Given the description of an element on the screen output the (x, y) to click on. 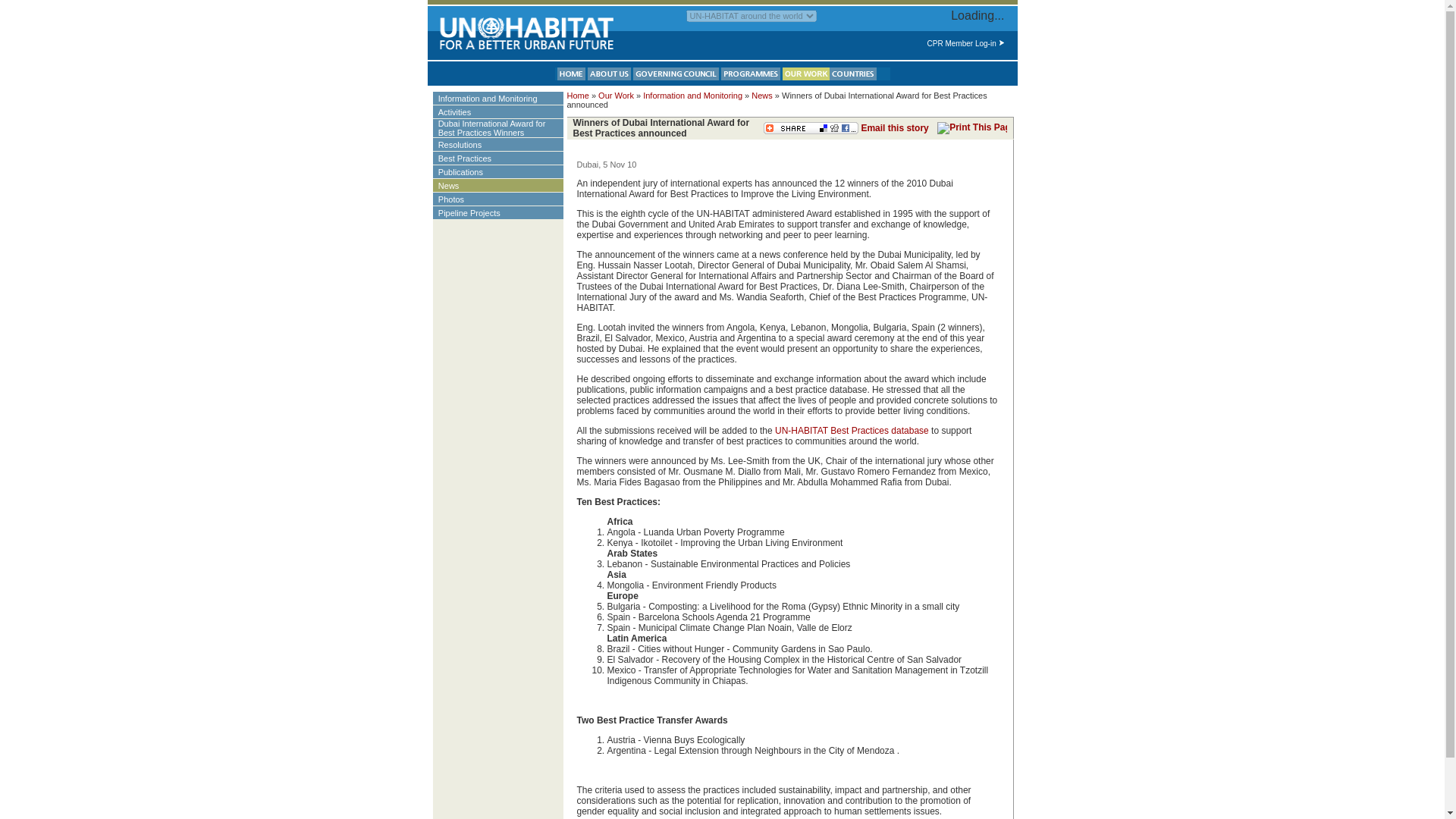
News (455, 184)
News (762, 94)
Pipeline Projects (475, 212)
Best Practices (471, 157)
Resolutions (466, 143)
Publications (467, 171)
Our Work (615, 94)
Home (578, 94)
Information and Monitoring (692, 94)
Photos (457, 198)
